Given the description of an element on the screen output the (x, y) to click on. 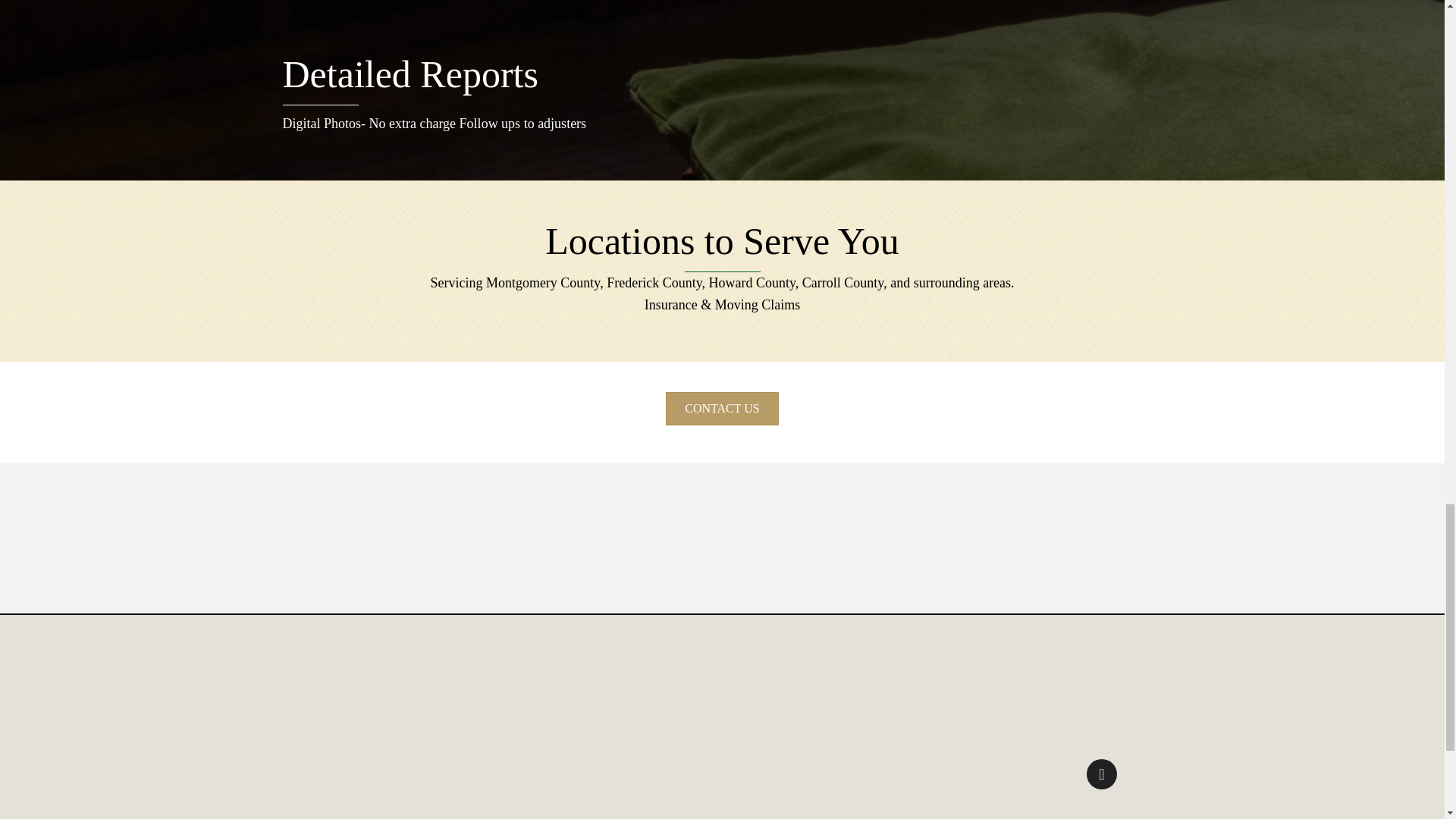
cards (1101, 807)
Facebook (1101, 774)
logo (721, 686)
CONTACT US (721, 408)
